Given the description of an element on the screen output the (x, y) to click on. 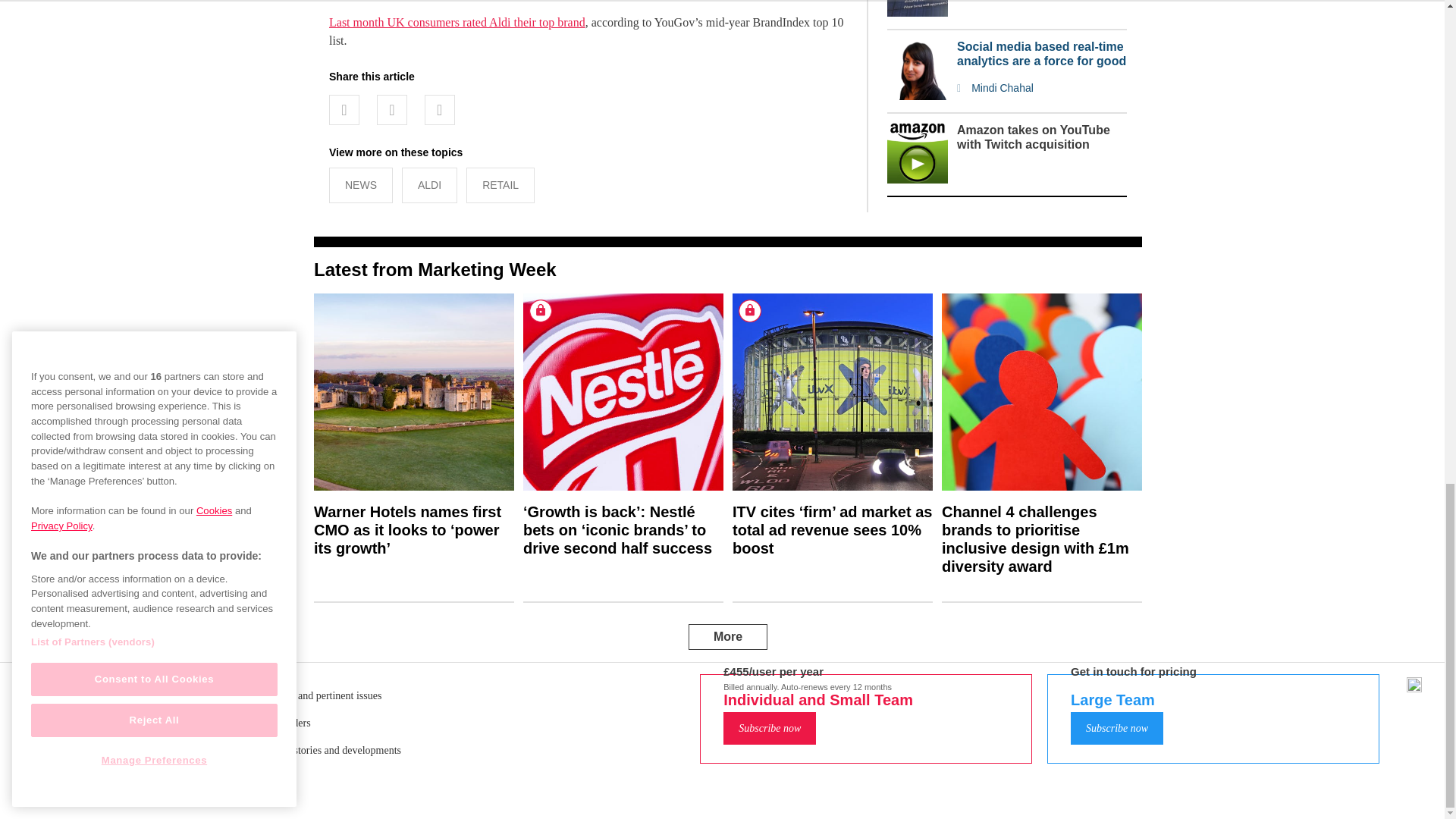
Last month UK consumers rated Aldi their top brand (457, 21)
NEWS (361, 185)
Privacy (736, 711)
ALDI (429, 185)
RETAIL (499, 185)
Latest from Marketing Week (435, 269)
